Given the description of an element on the screen output the (x, y) to click on. 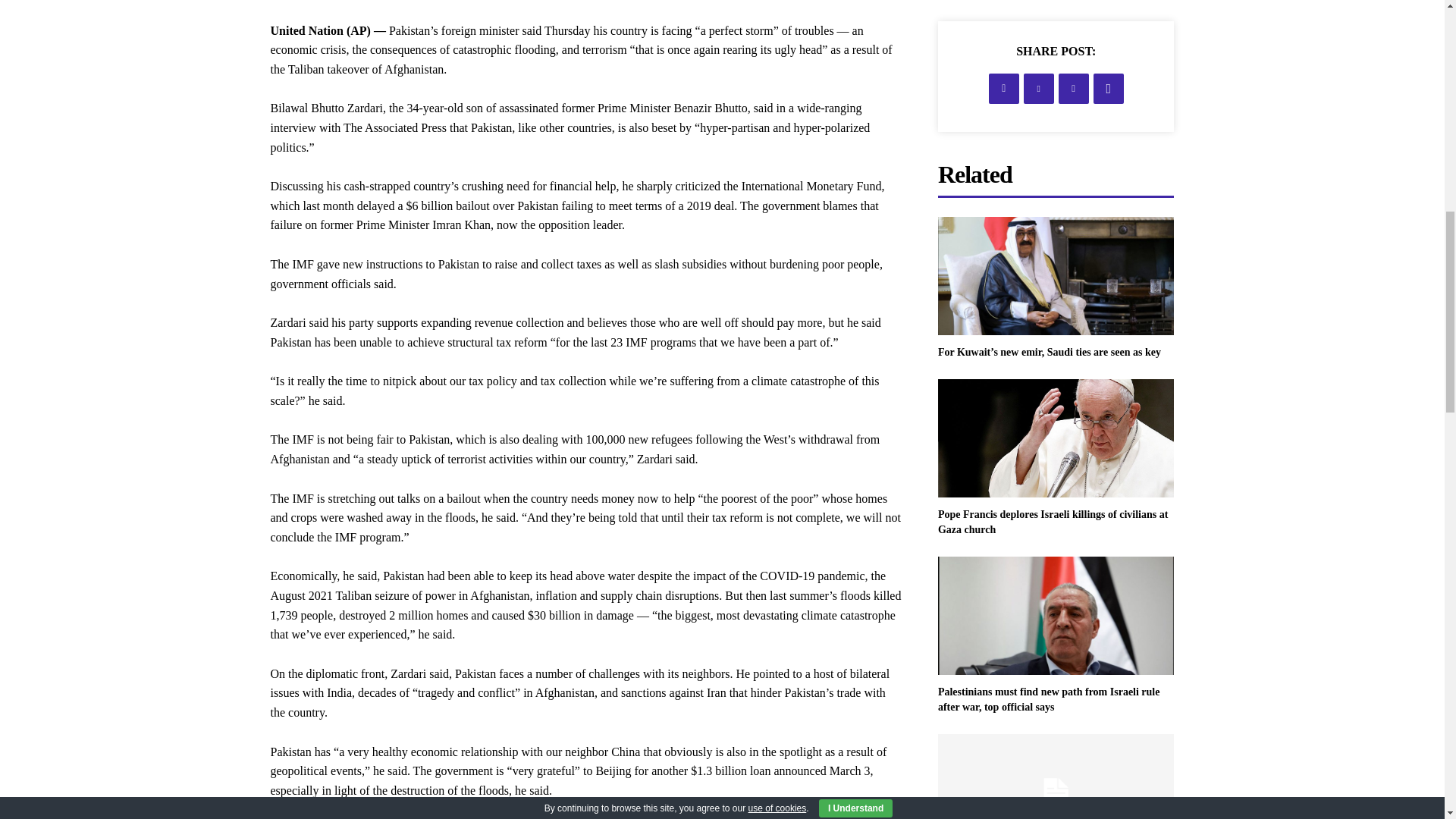
Pinterest (1073, 88)
WhatsApp (1108, 88)
Facebook (1003, 88)
Twitter (1038, 88)
